Given the description of an element on the screen output the (x, y) to click on. 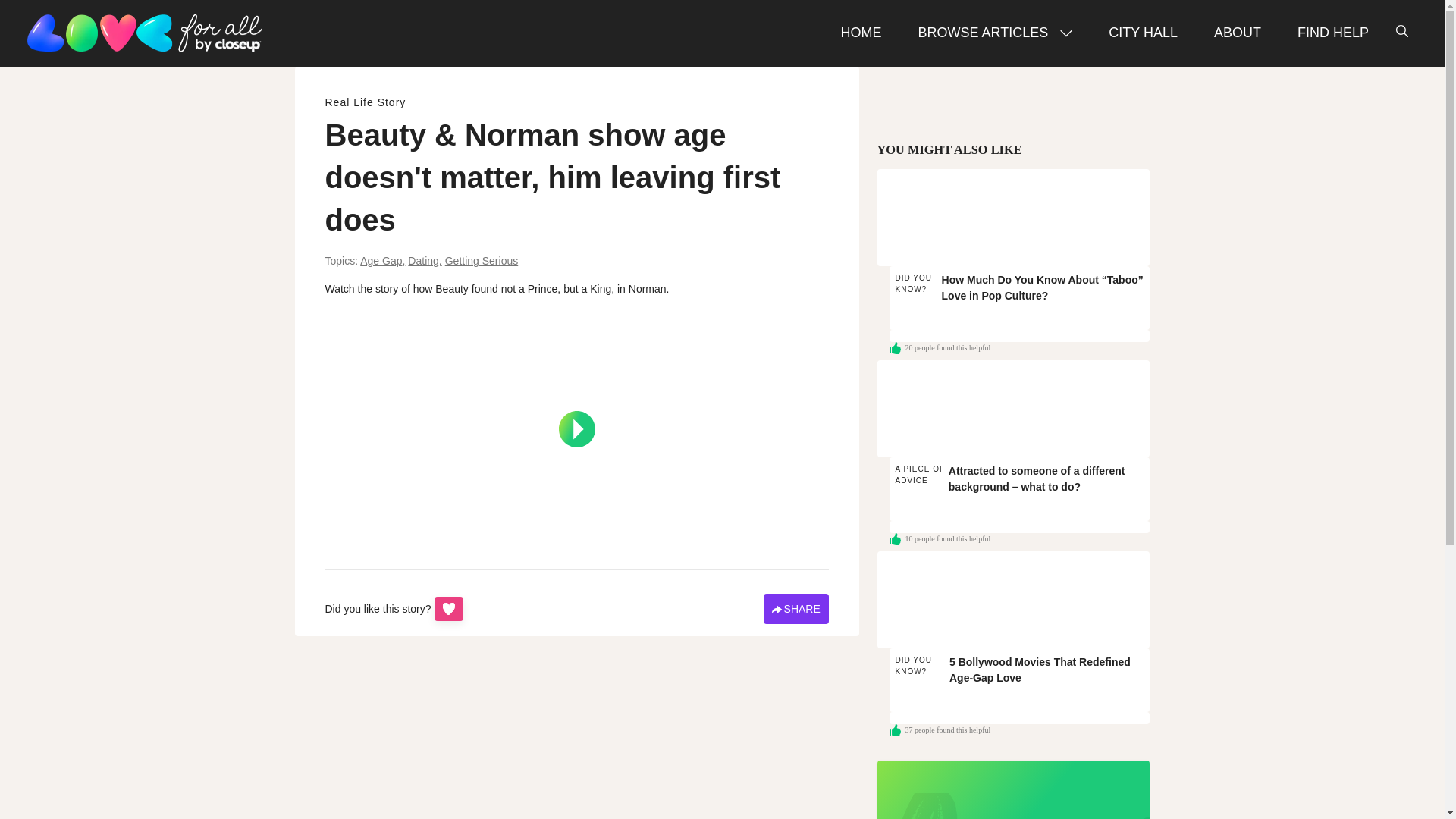
37 people found this helpful (1019, 729)
5 Bollywood Movies That Redefined Age-Gap Love (1013, 599)
BROWSE ARTICLES (995, 32)
CITY HALL (1142, 32)
SHARE (795, 608)
Dating, (1019, 679)
HOME (424, 260)
20 people found this helpful (861, 32)
Age Gap, (1019, 347)
